Given the description of an element on the screen output the (x, y) to click on. 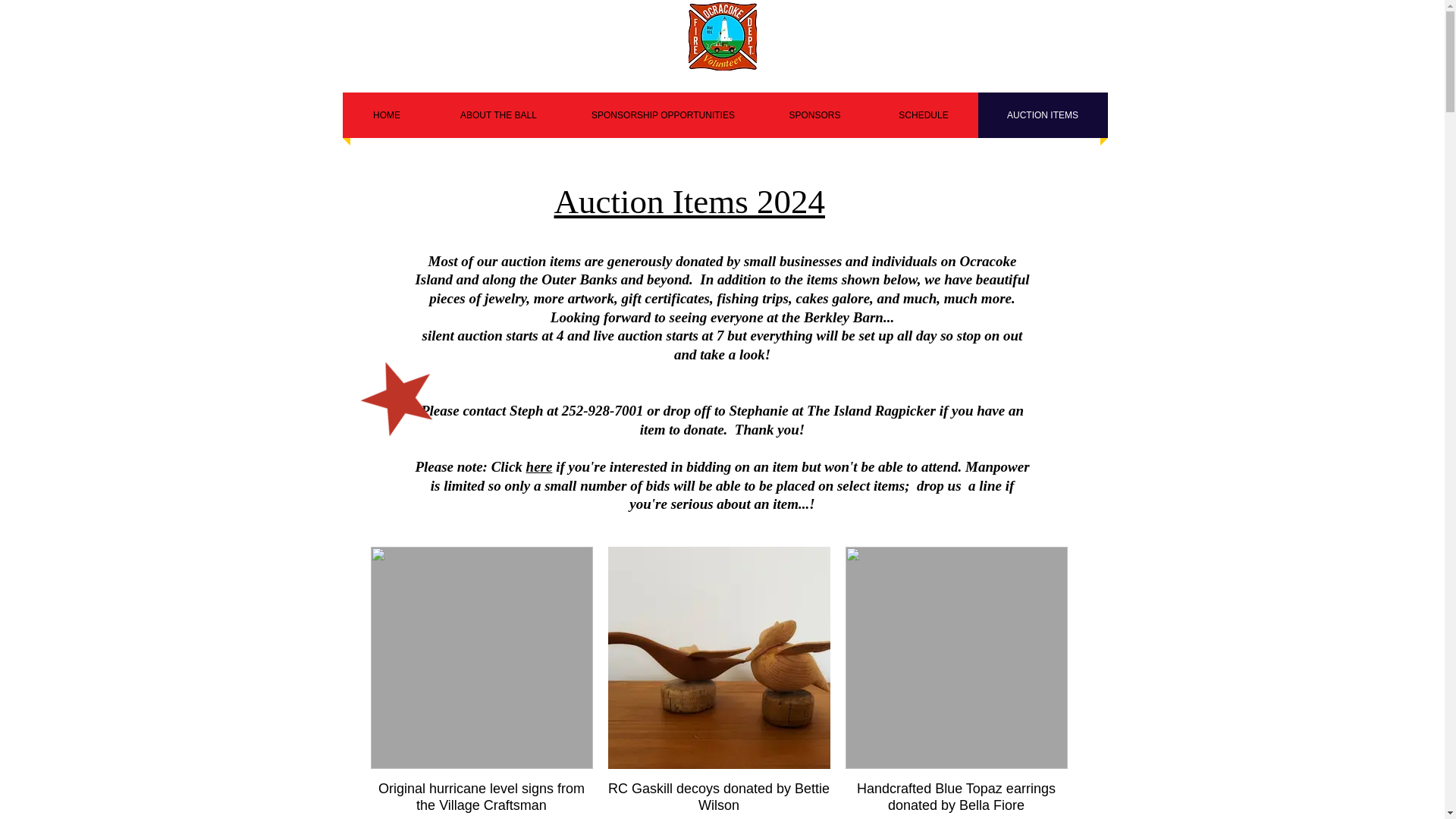
SPONSORSHIP OPPORTUNITIES (663, 115)
SCHEDULE (922, 115)
here (539, 466)
HOME (386, 115)
SPONSORS (814, 115)
AUCTION ITEMS (1043, 115)
ABOUT THE BALL (498, 115)
